Given the description of an element on the screen output the (x, y) to click on. 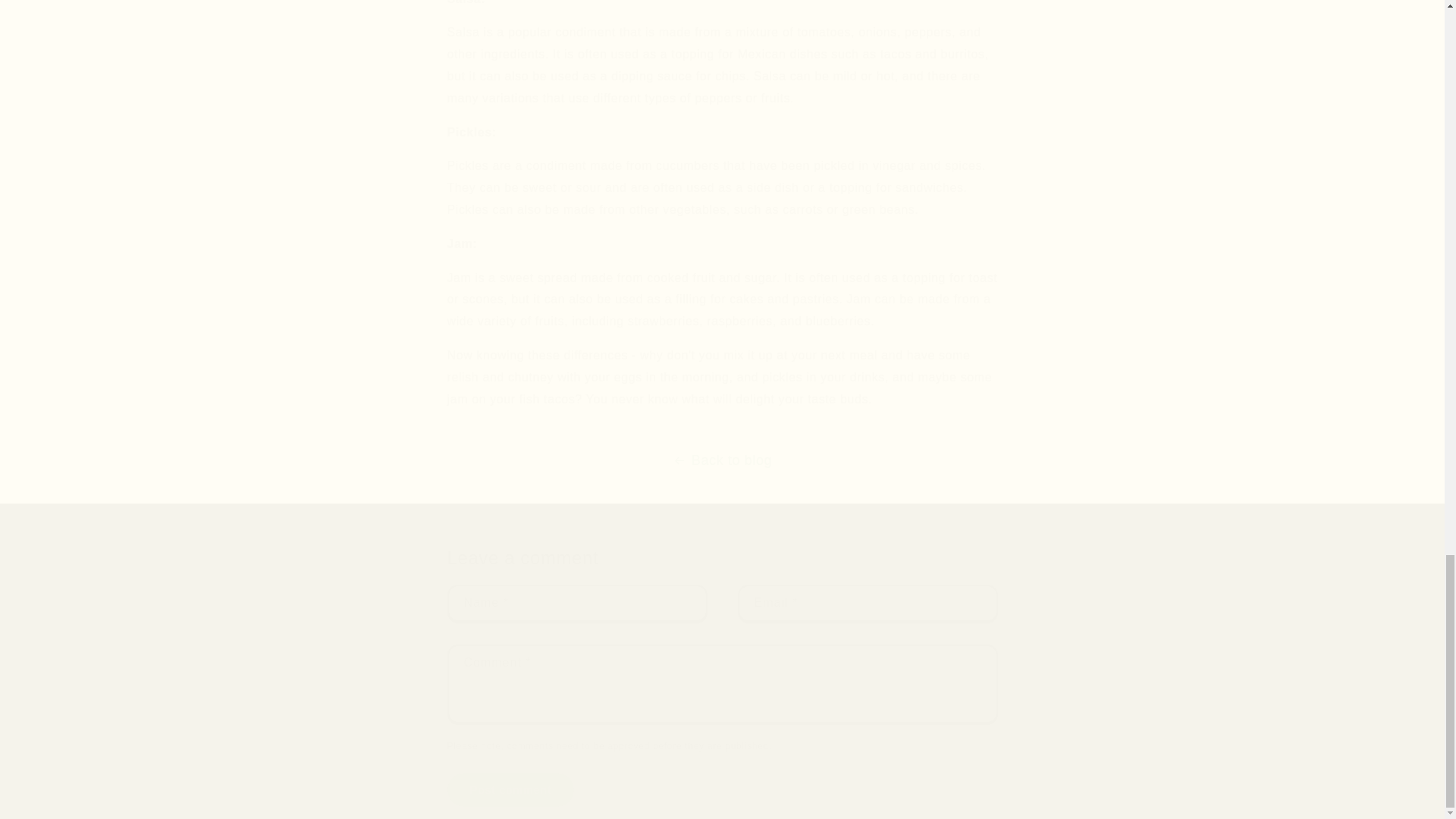
Post comment (510, 789)
